Given the description of an element on the screen output the (x, y) to click on. 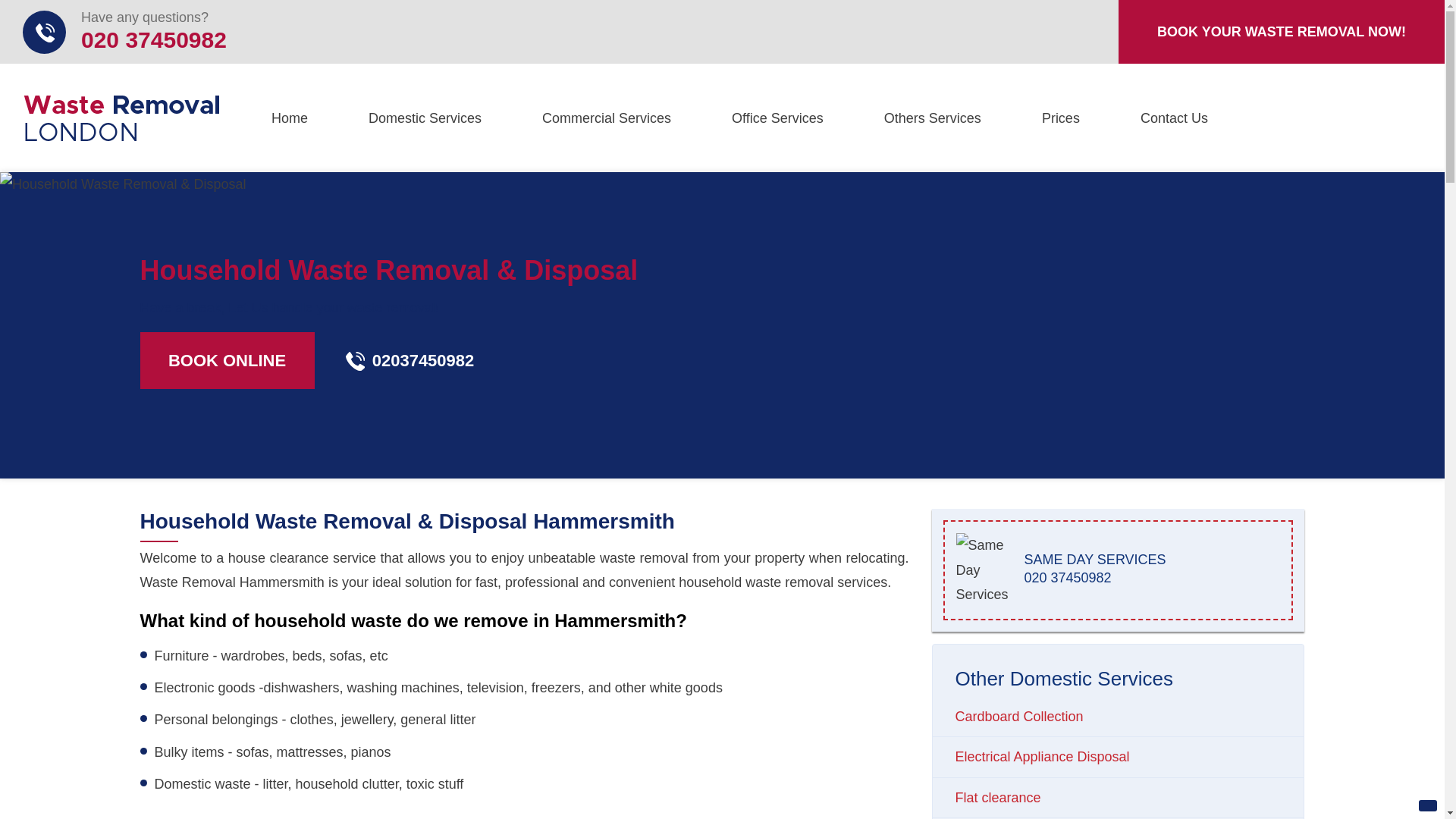
Home (289, 118)
Prices (1060, 118)
Commercial Services (606, 118)
Domestic Services (424, 118)
Contact Us (1174, 118)
Office Services (125, 31)
Others Services (777, 118)
